Given the description of an element on the screen output the (x, y) to click on. 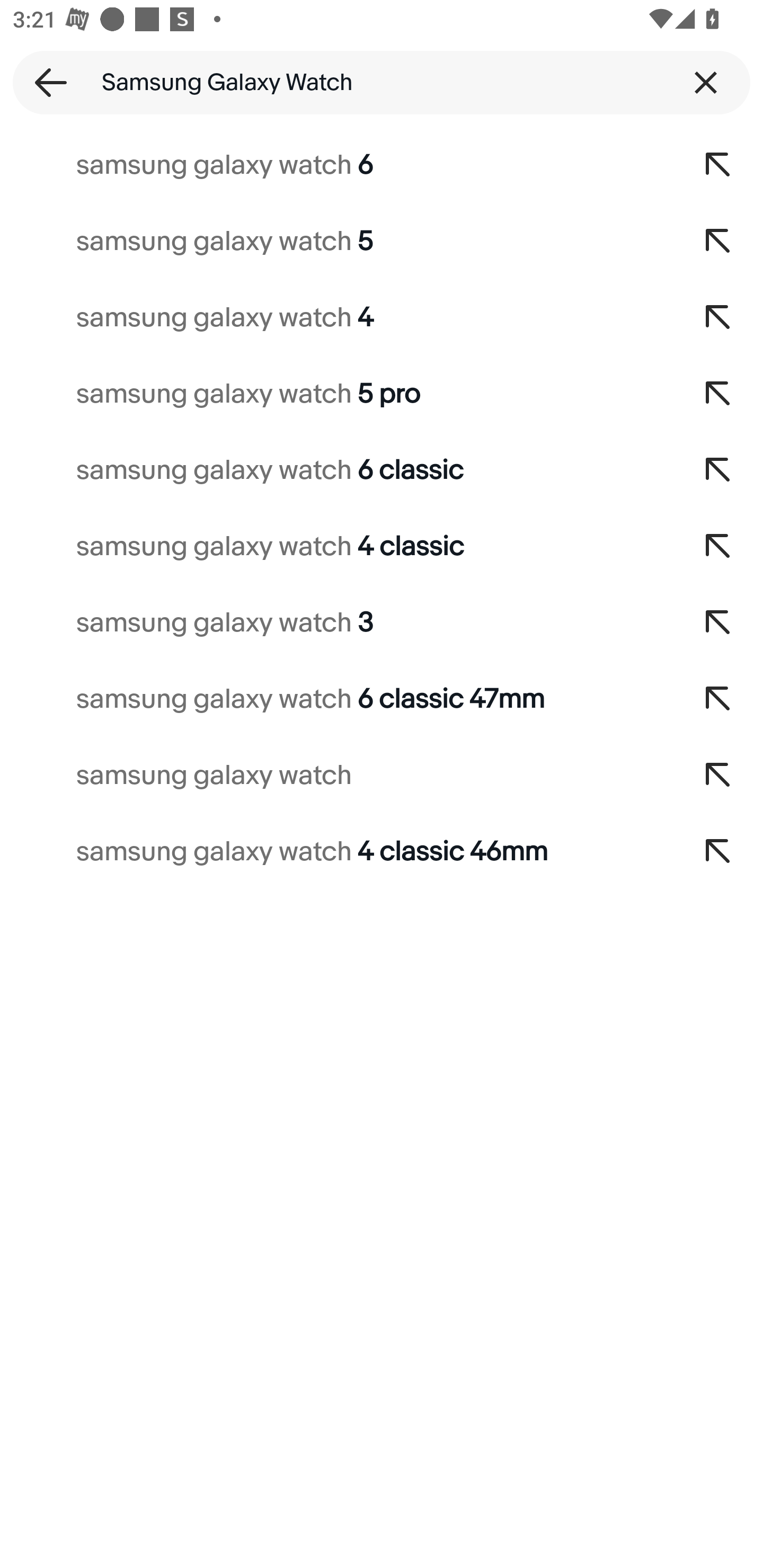
Back (44, 82)
Clear query (705, 82)
Samsung Galaxy Watch (381, 82)
samsung galaxy watch 6 (336, 165)
Add to search query,samsung galaxy watch 6 (718, 165)
samsung galaxy watch 5 (336, 241)
Add to search query,samsung galaxy watch 5 (718, 241)
samsung galaxy watch 4 (336, 317)
Add to search query,samsung galaxy watch 4 (718, 317)
samsung galaxy watch 5 pro (336, 393)
Add to search query,samsung galaxy watch 5 pro (718, 393)
samsung galaxy watch 6 classic (336, 470)
Add to search query,samsung galaxy watch 6 classic (718, 470)
samsung galaxy watch 4 classic (336, 546)
Add to search query,samsung galaxy watch 4 classic (718, 546)
samsung galaxy watch 3 (336, 622)
Add to search query,samsung galaxy watch 3 (718, 622)
samsung galaxy watch 6 classic 47mm (336, 698)
samsung galaxy watch (336, 774)
Add to search query,samsung galaxy watch (718, 774)
samsung galaxy watch 4 classic 46mm (336, 851)
